Given the description of an element on the screen output the (x, y) to click on. 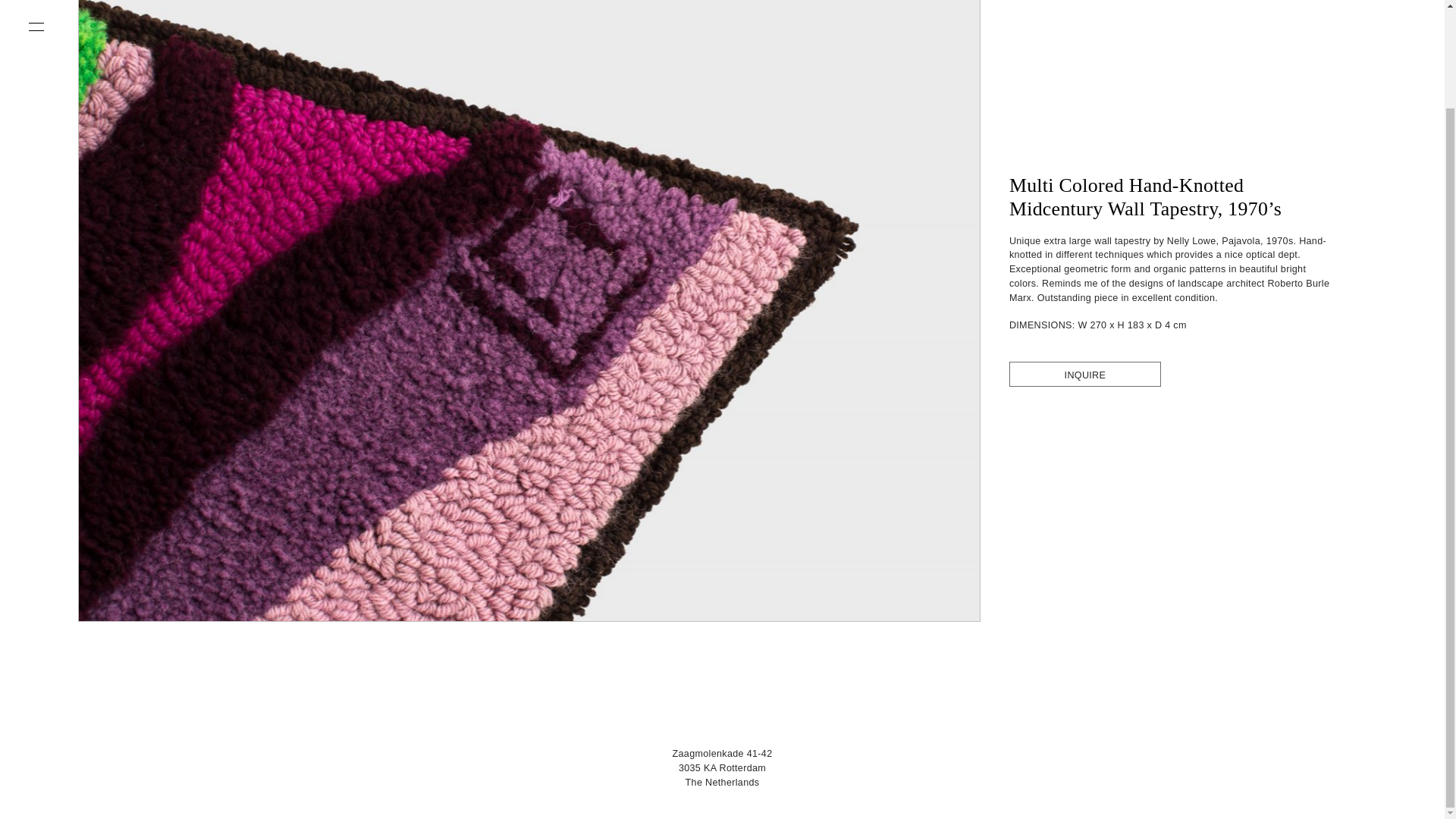
INQUIRE (1084, 375)
INQUIRE (1084, 373)
